Given the description of an element on the screen output the (x, y) to click on. 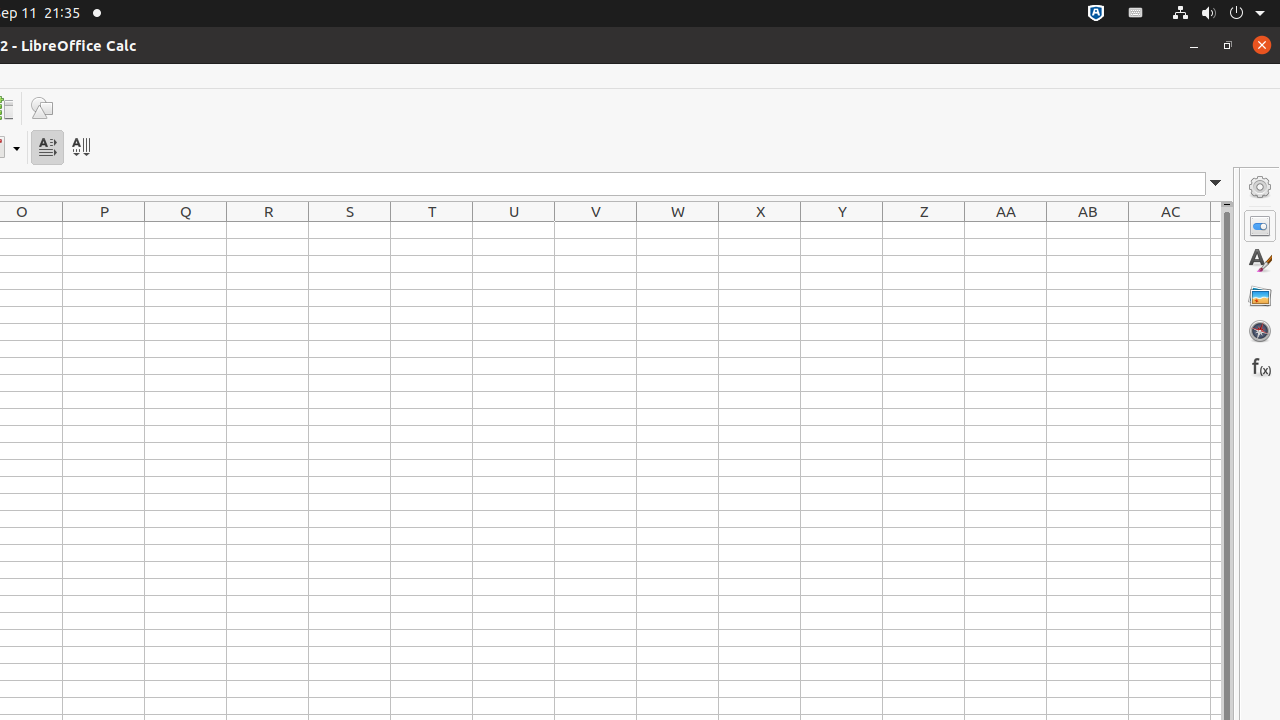
T1 Element type: table-cell (432, 230)
Text direction from left to right Element type: toggle-button (47, 147)
Draw Functions Element type: toggle-button (41, 108)
P1 Element type: table-cell (104, 230)
Y1 Element type: table-cell (842, 230)
